Given the description of an element on the screen output the (x, y) to click on. 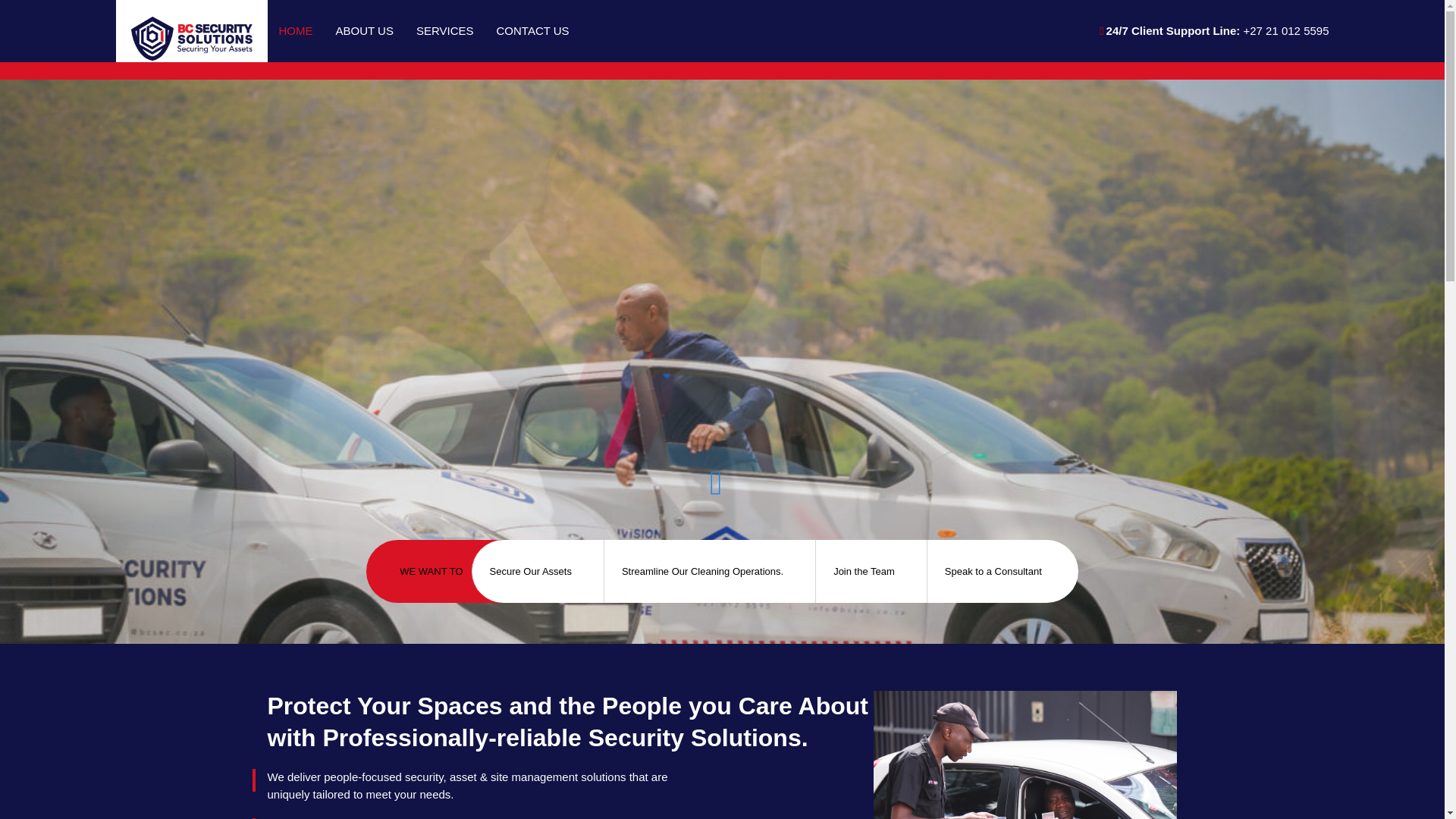
SERVICES (444, 31)
CONTACT US (532, 31)
Ezibukwayo Interactive (1150, 795)
Secure Our Assets (539, 571)
BC Security Solutions (185, 30)
ABOUT US (364, 31)
Streamline Our Cleaning Operations. (711, 571)
Join the Team (873, 571)
HOME (294, 31)
Speak to a Consultant (1002, 571)
